Given the description of an element on the screen output the (x, y) to click on. 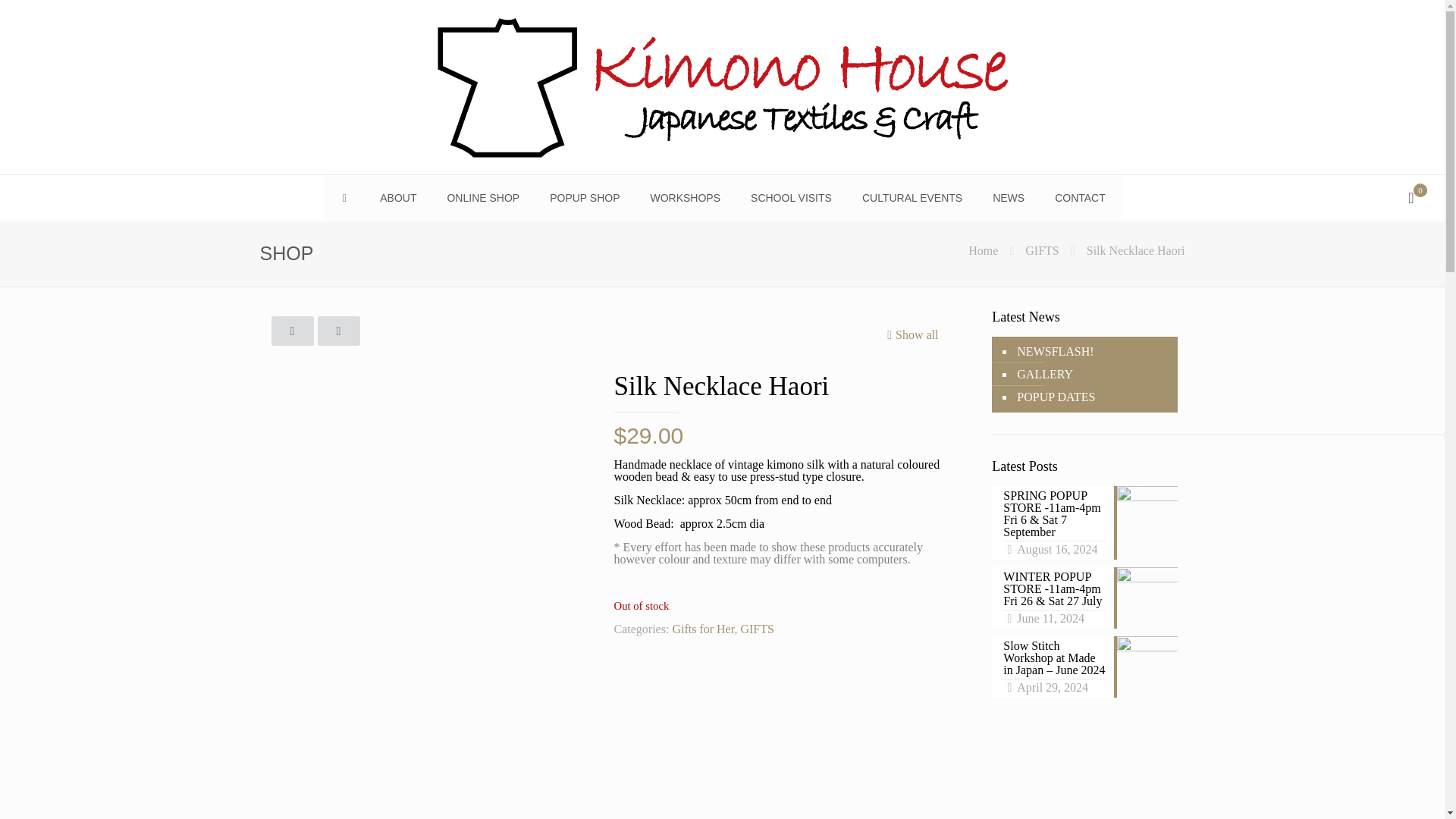
CULTURAL EVENTS (911, 197)
POPUP SHOP (584, 197)
WORKSHOPS (684, 197)
ABOUT (397, 197)
ONLINE SHOP (482, 197)
SCHOOL VISITS (791, 197)
